Given the description of an element on the screen output the (x, y) to click on. 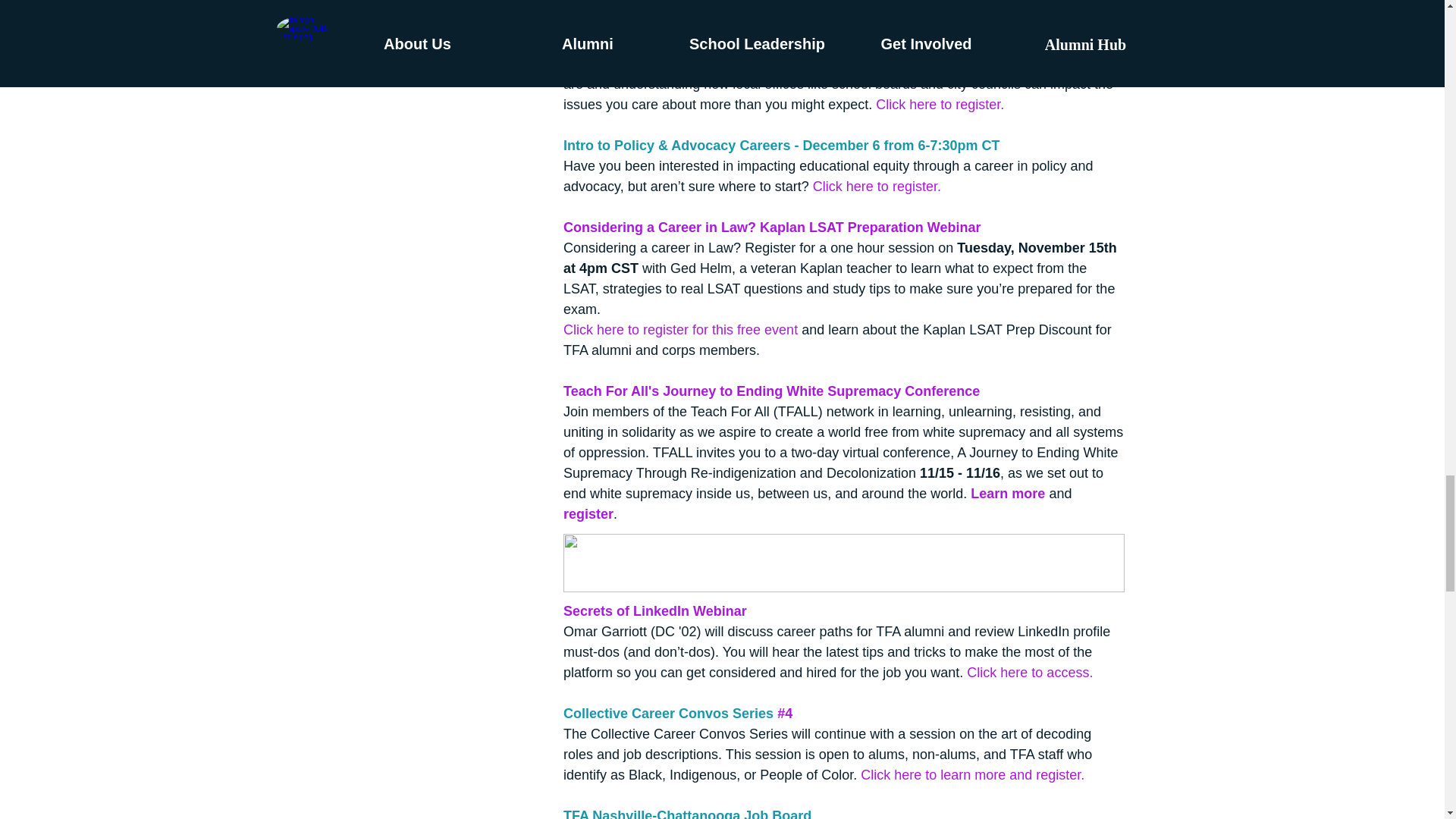
Click here to register. (876, 185)
Considering a Career in Law? Kaplan LSAT Preparation Webinar (770, 226)
Click here to register. (940, 103)
